Given the description of an element on the screen output the (x, y) to click on. 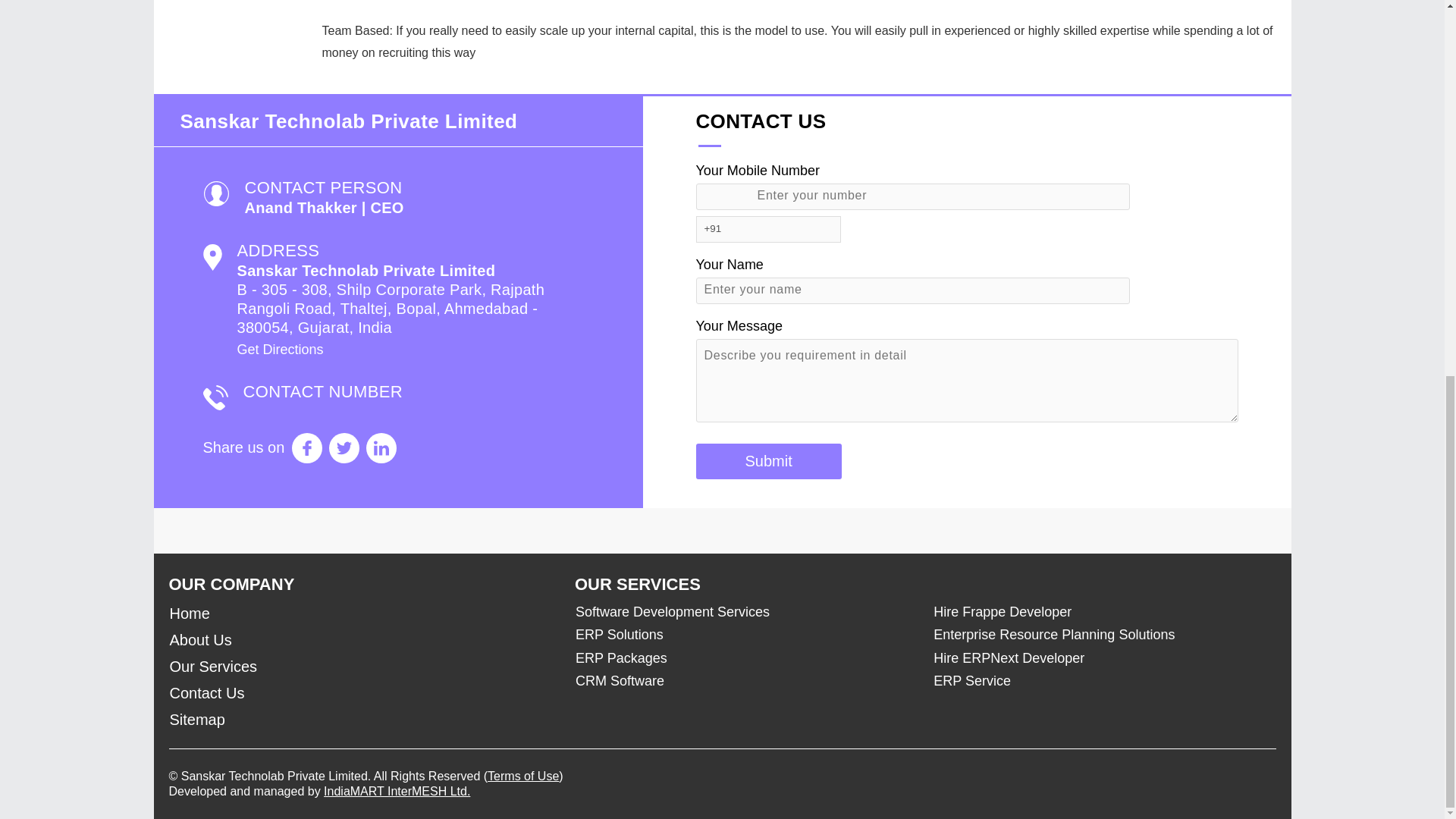
Software Development Services (738, 611)
Get Directions (279, 349)
Submit (768, 461)
CRM Software (738, 680)
Our Services (363, 666)
ERP Solutions (738, 634)
ERP Packages (738, 658)
Hire Frappe Developer (1096, 611)
About Us (363, 640)
Contact Us (363, 693)
OUR SERVICES (637, 583)
Sitemap (363, 719)
Submit (768, 461)
Enterprise Resource Planning Solutions (1096, 634)
Home (363, 613)
